Given the description of an element on the screen output the (x, y) to click on. 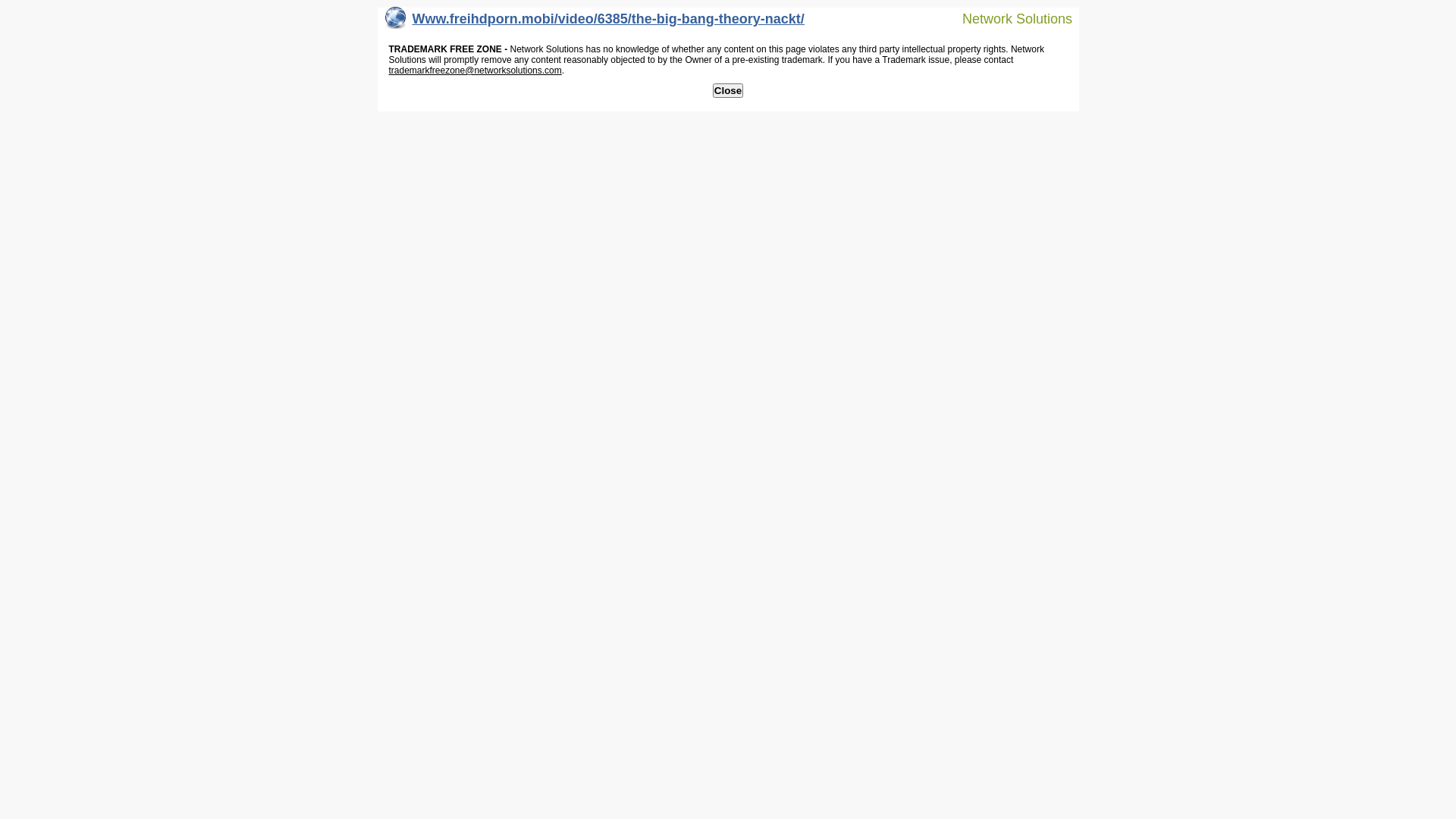
trademarkfreezone@networksolutions.com Element type: text (474, 70)
Close Element type: text (727, 90)
Network Solutions Element type: text (1007, 17)
Www.freihdporn.mobi/video/6385/the-big-bang-theory-nackt/ Element type: text (594, 21)
